Given the description of an element on the screen output the (x, y) to click on. 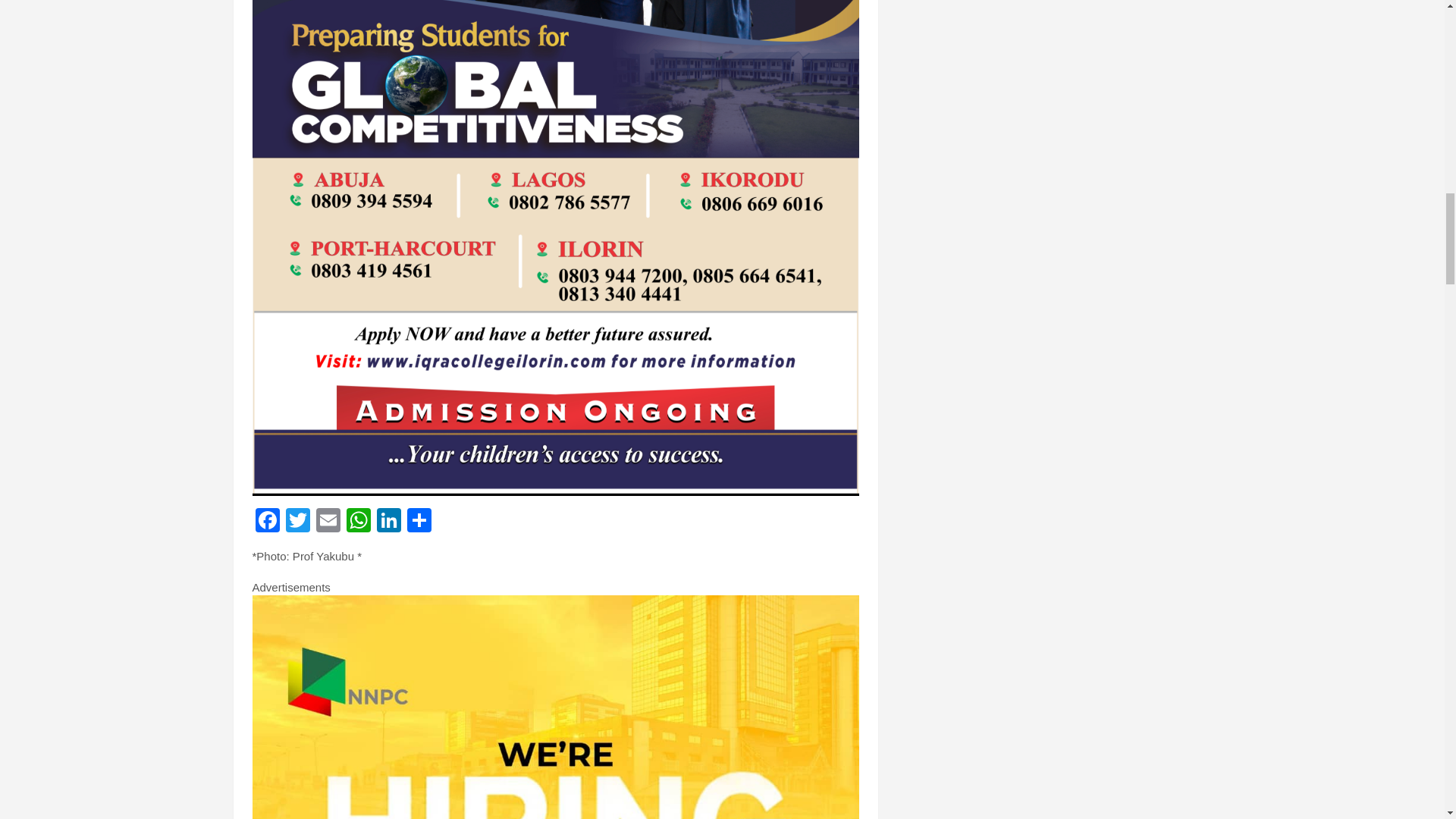
Share (418, 521)
Twitter (297, 521)
LinkedIn (387, 521)
Email (327, 521)
WhatsApp (357, 521)
Twitter (297, 521)
Email (327, 521)
Facebook (266, 521)
WhatsApp (357, 521)
LinkedIn (387, 521)
Facebook (266, 521)
